Given the description of an element on the screen output the (x, y) to click on. 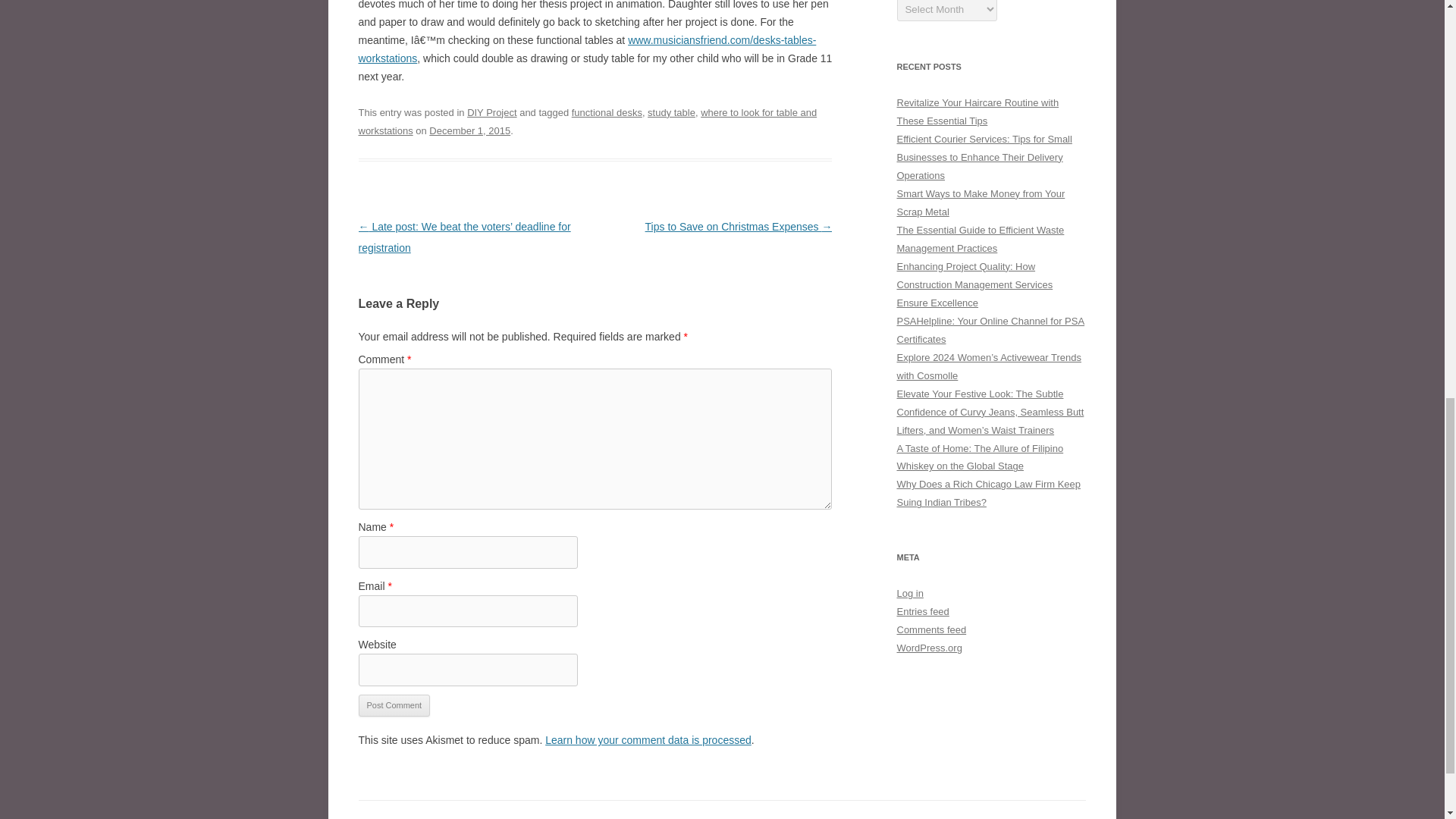
Learn how your comment data is processed (647, 739)
where to look for table and workstations (587, 121)
The Essential Guide to Efficient Waste Management Practices (980, 238)
Smart Ways to Make Money from Your Scrap Metal (980, 202)
DIY Project (491, 112)
December 1, 2015 (470, 130)
Revitalize Your Haircare Routine with These Essential Tips (977, 111)
study table (671, 112)
Post Comment (393, 705)
functional desks (607, 112)
Post Comment (393, 705)
PSAHelpline: Your Online Channel for PSA Certificates (990, 329)
